Given the description of an element on the screen output the (x, y) to click on. 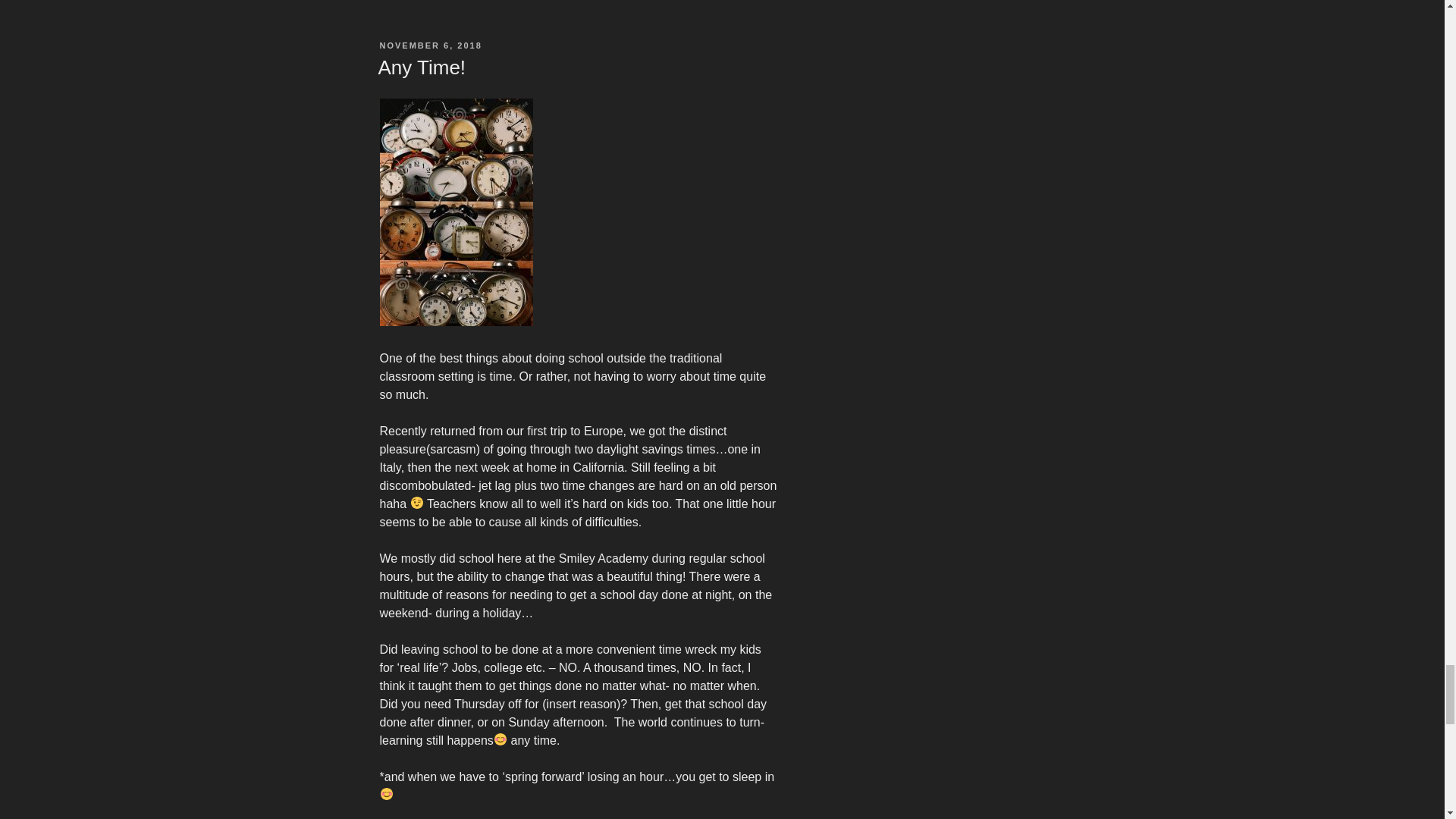
NOVEMBER 6, 2018 (429, 44)
Any Time! (421, 67)
